Given the description of an element on the screen output the (x, y) to click on. 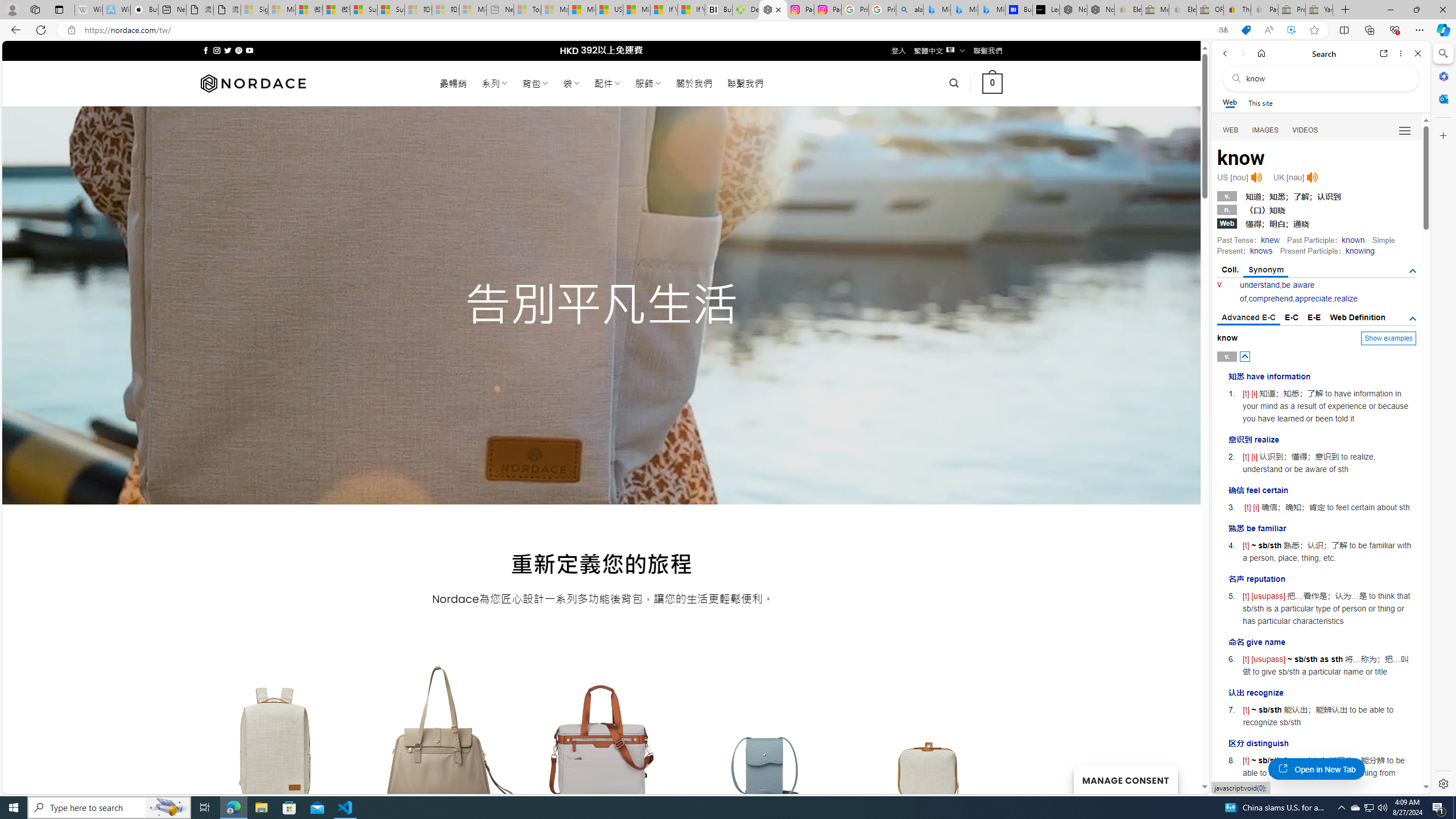
known (1352, 239)
Microsoft account | Account Checkup - Sleeping (473, 9)
comprehend (1269, 298)
realize (1345, 298)
Advanced E-C (1248, 318)
